Given the description of an element on the screen output the (x, y) to click on. 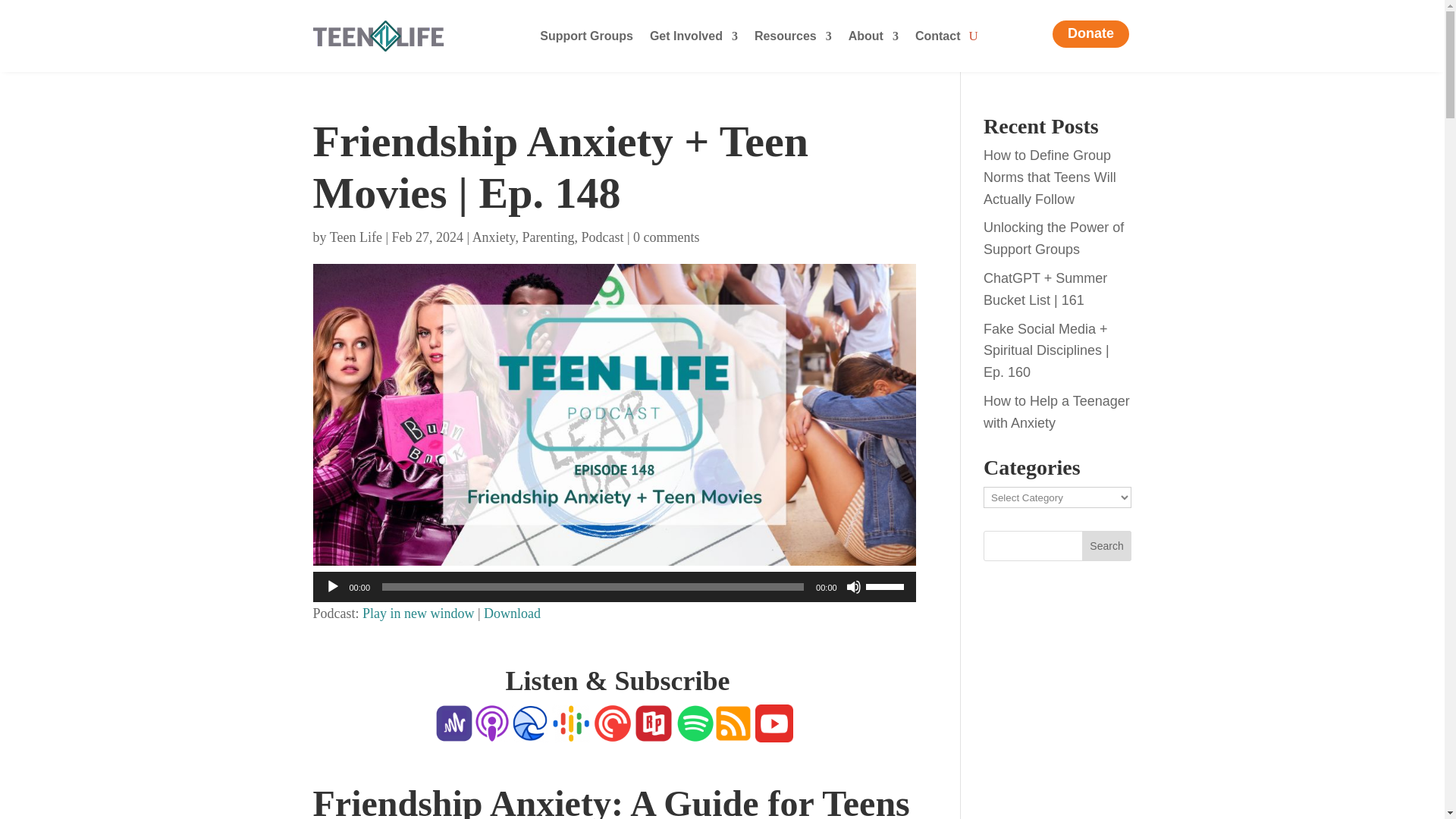
Support Groups (586, 38)
Spotify (695, 731)
Radio Public (651, 731)
Copy RSS (733, 731)
Apple Podcast (492, 731)
Get Involved (693, 38)
Download (511, 613)
Google Podcast (570, 731)
Play in new window (418, 613)
About (873, 38)
Resources (792, 38)
Pocket Cast (612, 731)
Contact (937, 38)
Play (331, 586)
Breaker (529, 731)
